Given the description of an element on the screen output the (x, y) to click on. 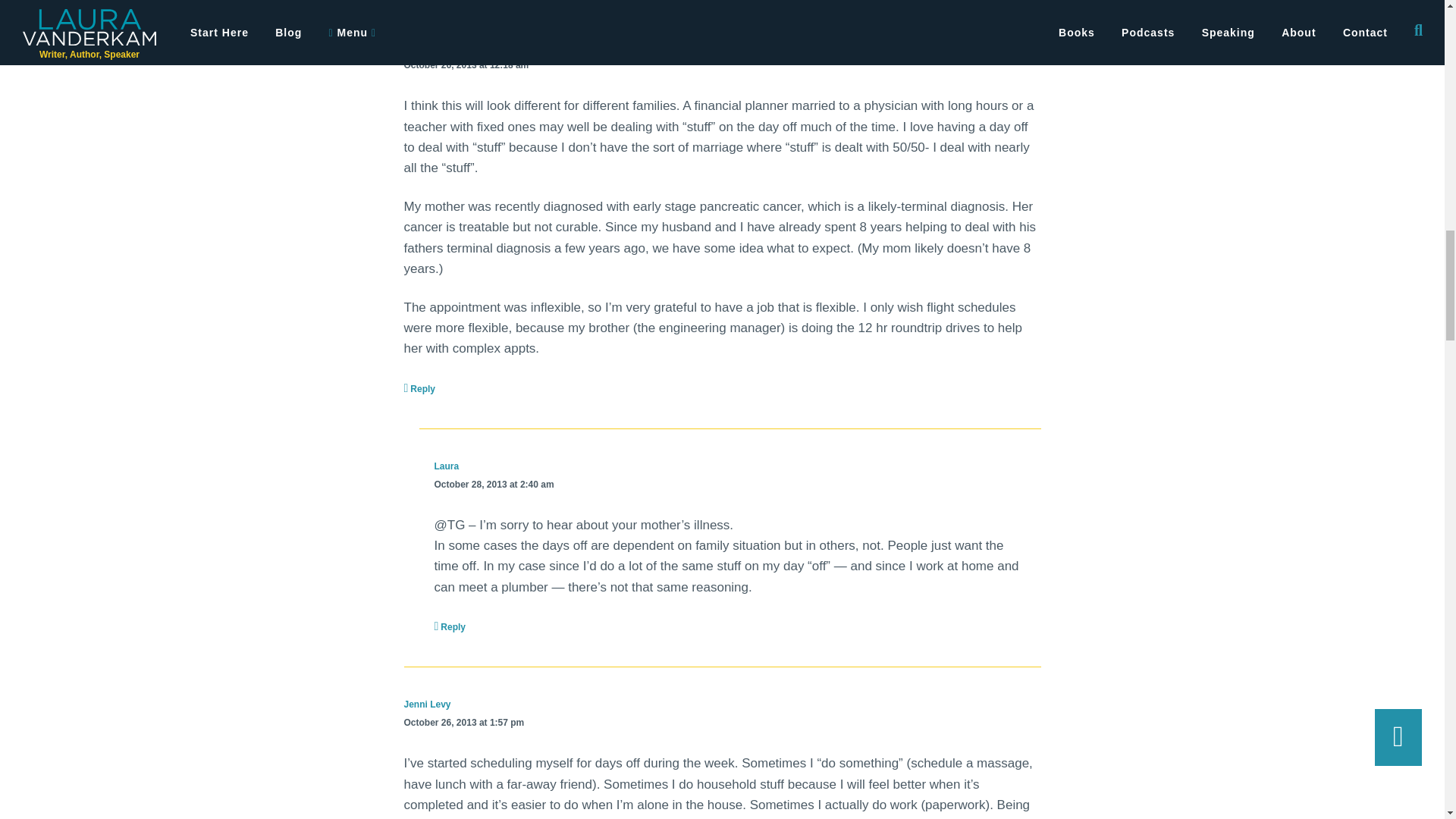
October 26, 2013 at 1:57 pm (463, 722)
Reply (449, 626)
Reply (419, 388)
October 28, 2013 at 2:40 am (493, 484)
October 26, 2013 at 12:18 am (465, 65)
